Given the description of an element on the screen output the (x, y) to click on. 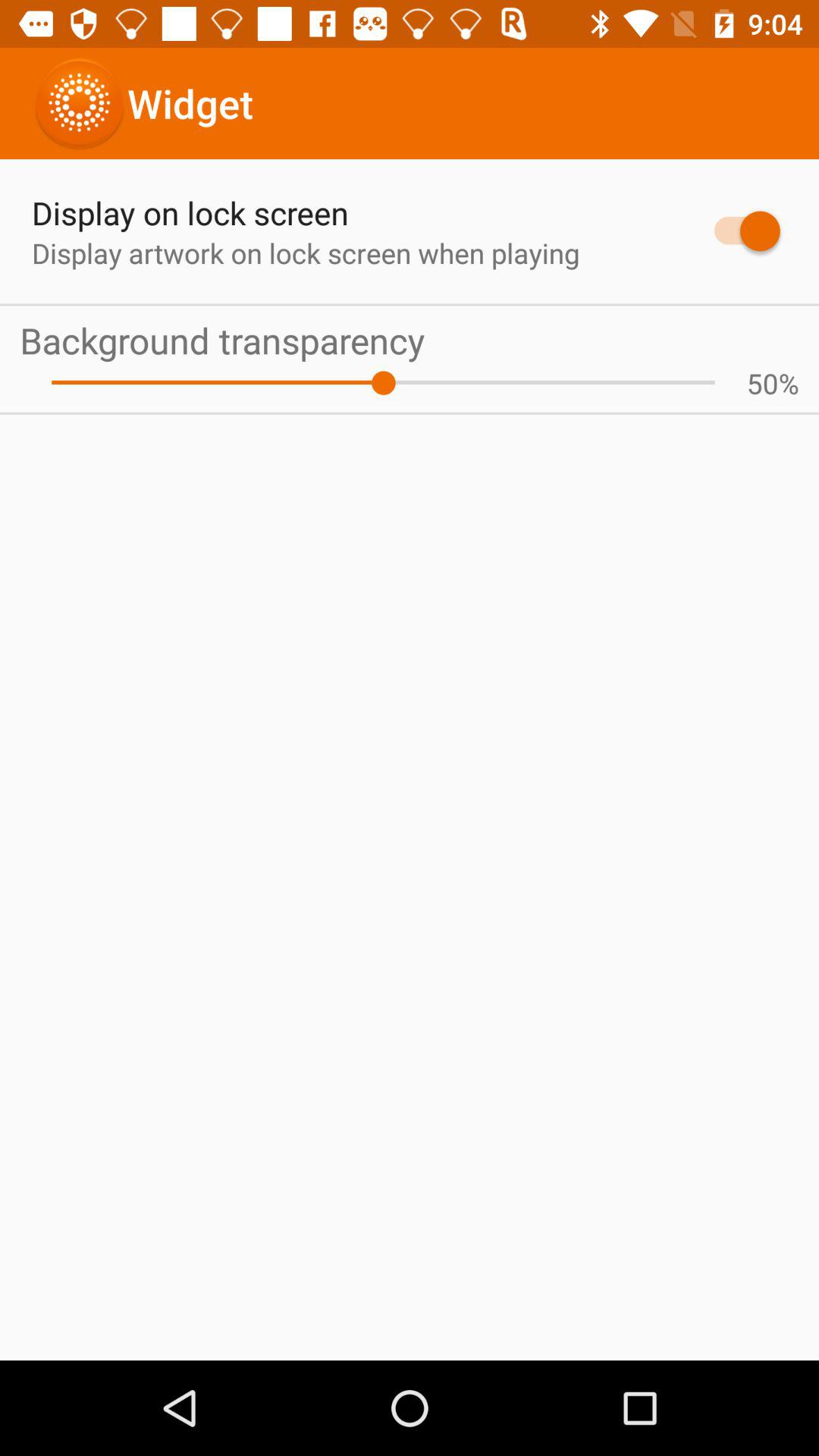
launch background transparency item (409, 340)
